Given the description of an element on the screen output the (x, y) to click on. 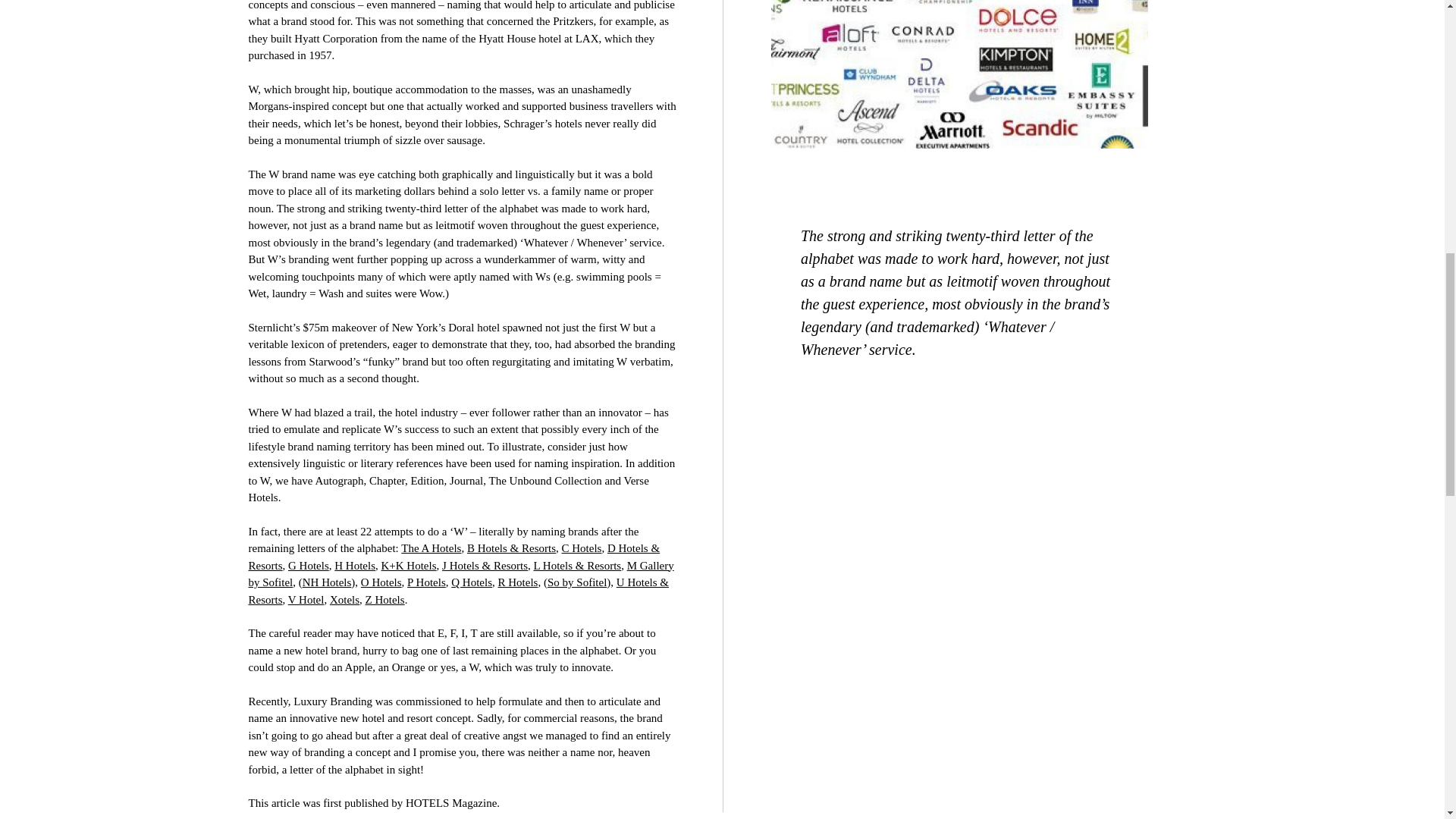
O Hotels (381, 582)
So by Sofitel (577, 582)
G Hotels (308, 565)
V Hotel (306, 598)
The A Hotels (431, 548)
P Hotels (426, 582)
H Hotels (354, 565)
M Gallery by Sofitel (461, 573)
C Hotels (582, 548)
NH Hotels (327, 582)
R Hotels (517, 582)
Xotels (344, 598)
Q Hotels (471, 582)
Z Hotels (384, 598)
